Given the description of an element on the screen output the (x, y) to click on. 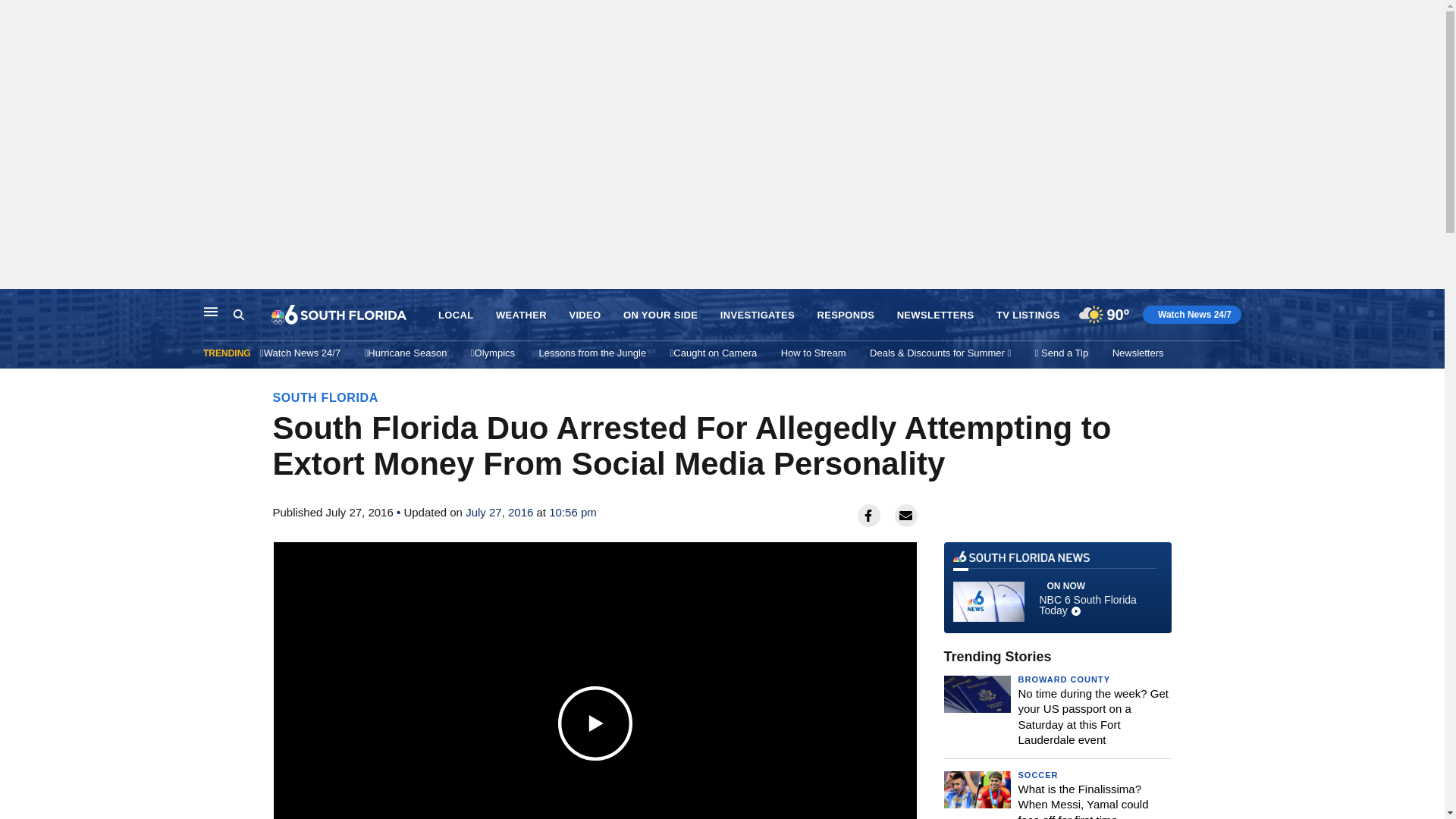
SOUTH FLORIDA (325, 397)
Play (594, 722)
INVESTIGATES (757, 315)
RESPONDS (845, 315)
WEATHER (521, 315)
How to Stream (812, 352)
LOCAL (455, 315)
Newsletters (1137, 352)
Lessons from the Jungle (592, 352)
ON YOUR SIDE (660, 315)
VIDEO (584, 315)
Search (252, 314)
NEWSLETTERS (935, 315)
TV LISTINGS (1027, 315)
Skip to content (16, 304)
